Given the description of an element on the screen output the (x, y) to click on. 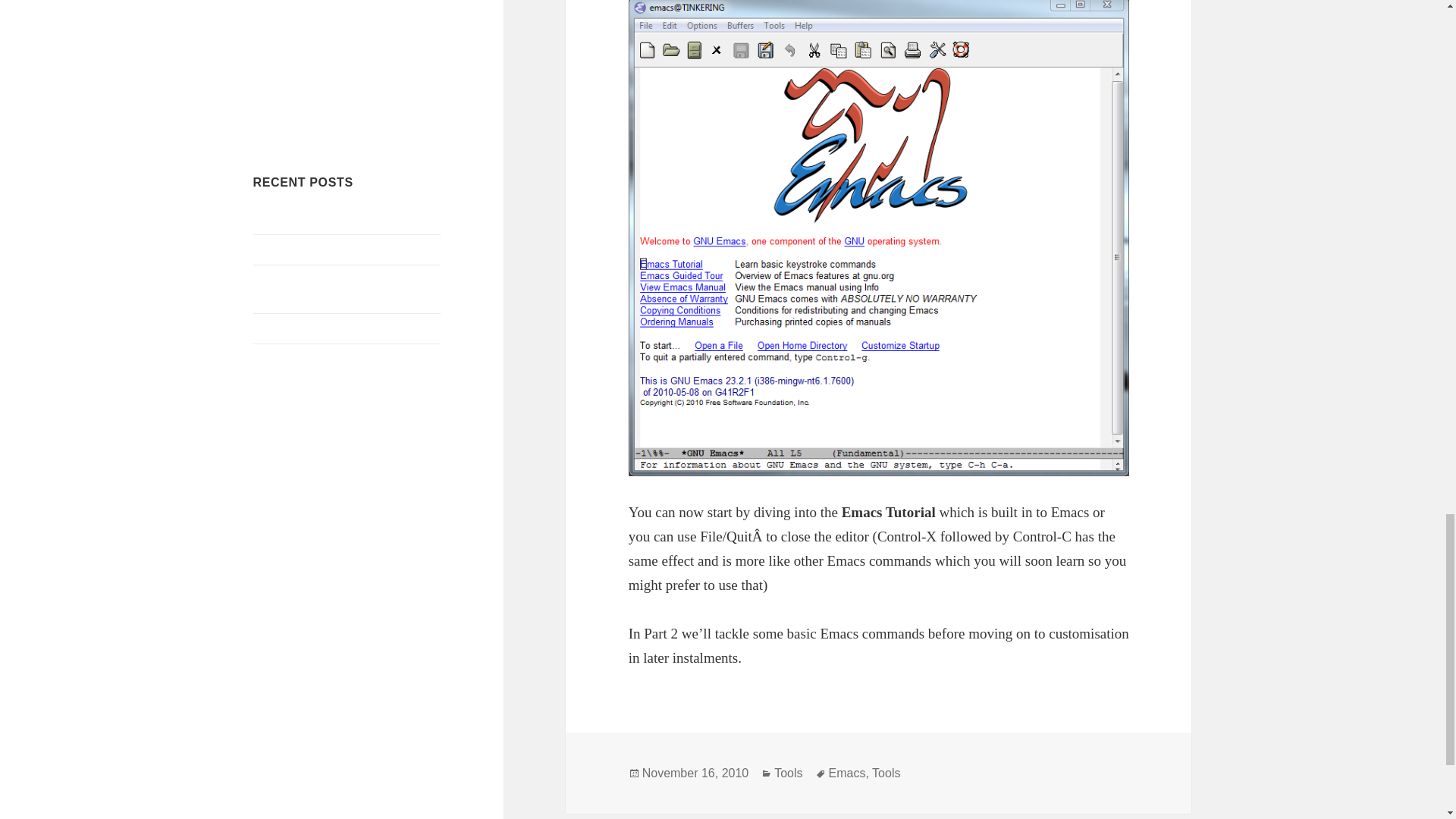
Emacs (847, 773)
November 16, 2010 (695, 773)
Tools (885, 773)
Tools (788, 773)
